Given the description of an element on the screen output the (x, y) to click on. 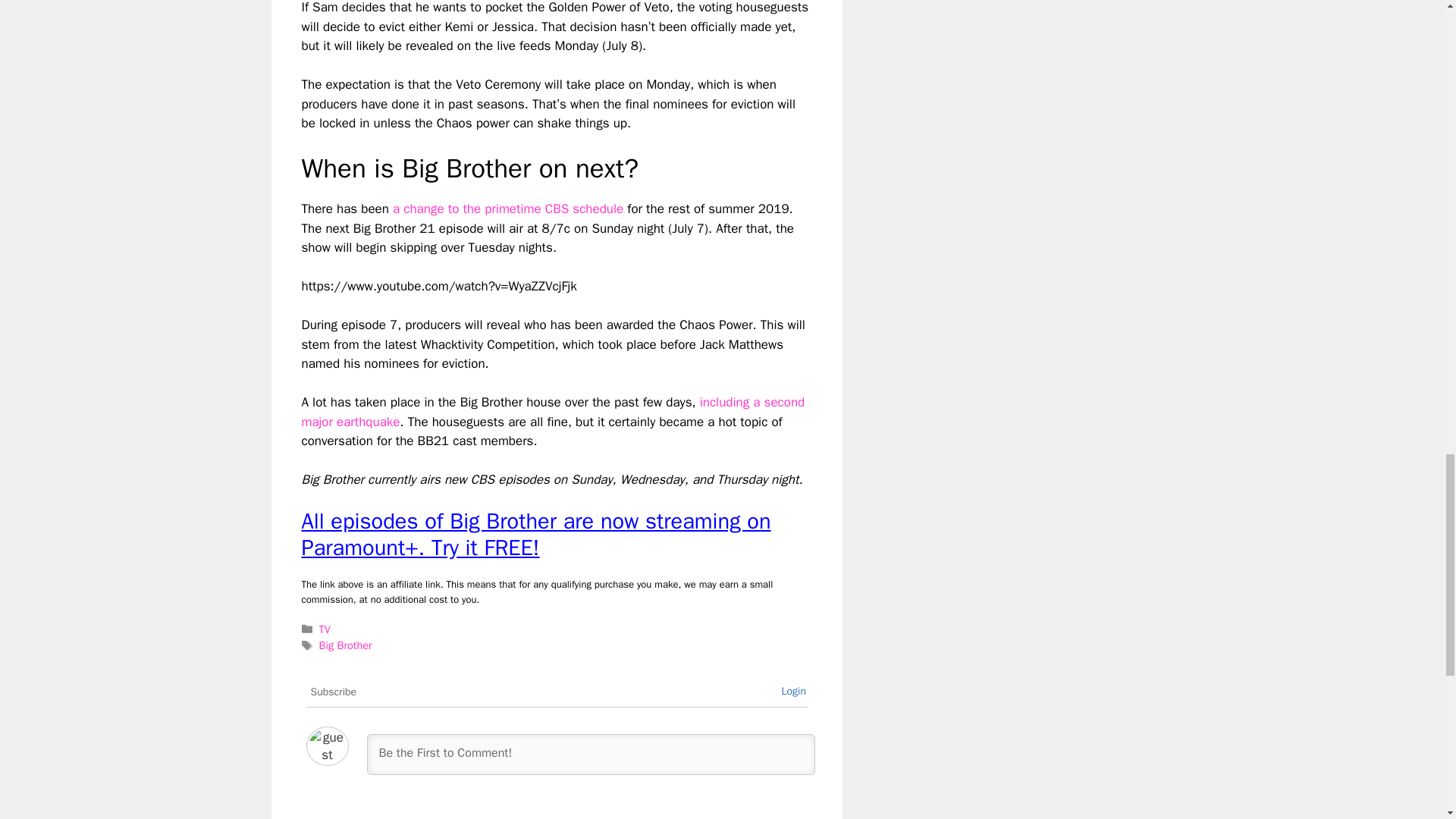
Login (793, 690)
a change to the primetime CBS schedule (508, 208)
Big Brother (345, 644)
including a second major earthquake (553, 411)
